Given the description of an element on the screen output the (x, y) to click on. 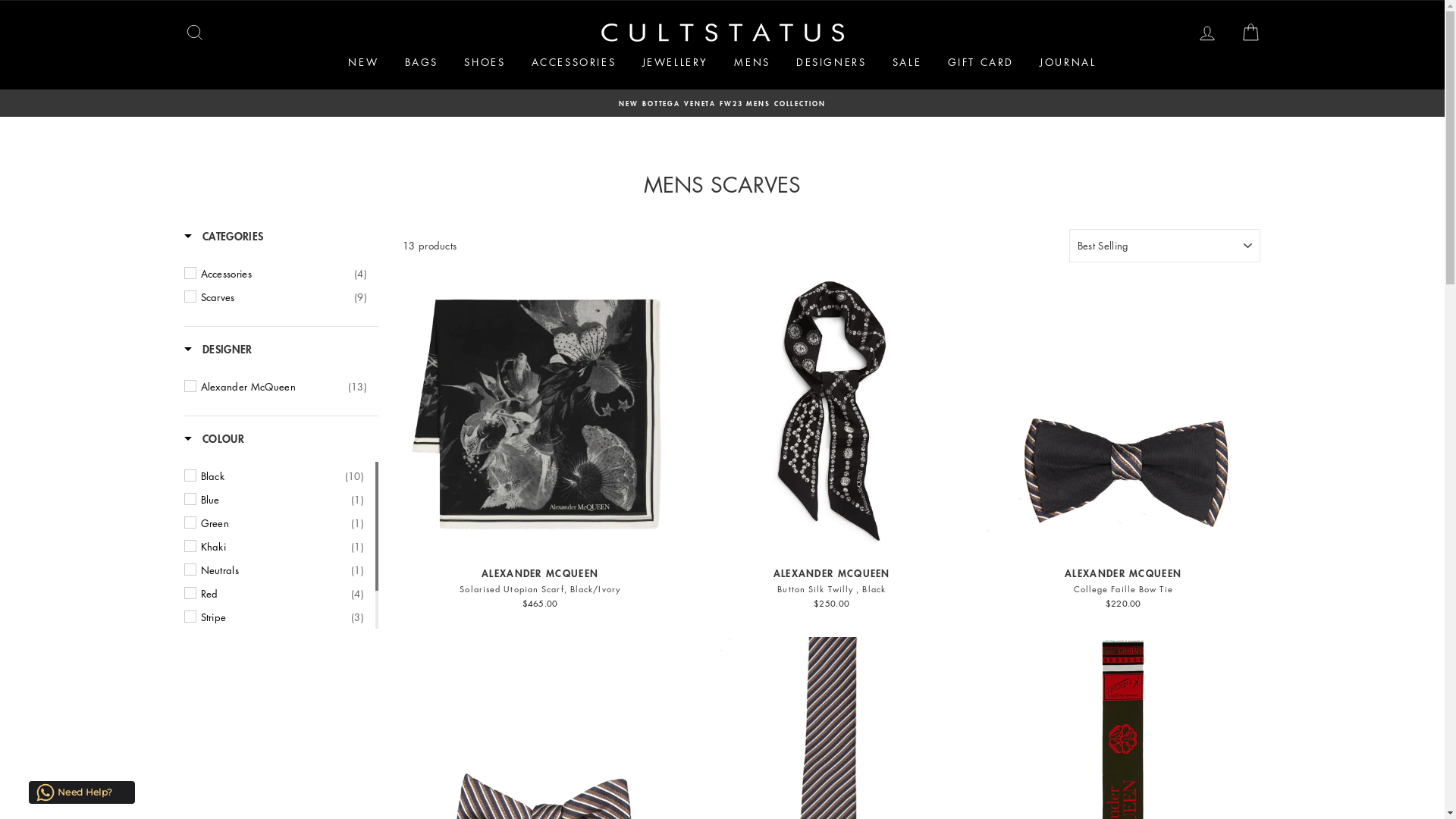
Scarves
(9) Element type: text (283, 297)
Stripe
(3) Element type: text (281, 617)
JEWELLERY Element type: text (674, 61)
CART Element type: text (1249, 32)
DESIGNERS Element type: text (830, 61)
Green
(1) Element type: text (281, 523)
ACCESSORIES Element type: text (573, 61)
Red
(4) Element type: text (281, 593)
GIFT CARD Element type: text (980, 61)
Neutrals
(1) Element type: text (281, 570)
BAGS Element type: text (421, 61)
SALE Element type: text (906, 61)
ALEXANDER MCQUEEN
Button Silk Twilly , Black
$250.00 Element type: text (831, 443)
COLOUR Element type: text (213, 440)
NEW BOTTEGA VENETA FW23 MENS COLLECTION Element type: text (722, 102)
Accessories
(4) Element type: text (283, 273)
Blue
(1) Element type: text (281, 499)
Skip to content Element type: text (0, 0)
JOURNAL Element type: text (1067, 61)
SHOES Element type: text (484, 61)
White
(6) Element type: text (281, 640)
Khaki
(1) Element type: text (281, 546)
NEW Element type: text (362, 61)
DESIGNER Element type: text (217, 351)
MENS Element type: text (751, 61)
LOG IN Element type: text (1206, 32)
ALEXANDER MCQUEEN
College Faille Bow Tie
$220.00 Element type: text (1123, 443)
Alexander McQueen
(13) Element type: text (283, 386)
SEARCH Element type: text (193, 32)
Black
(10) Element type: text (281, 476)
Yellow
(1) Element type: text (281, 664)
CATEGORIES Element type: text (223, 238)
